Given the description of an element on the screen output the (x, y) to click on. 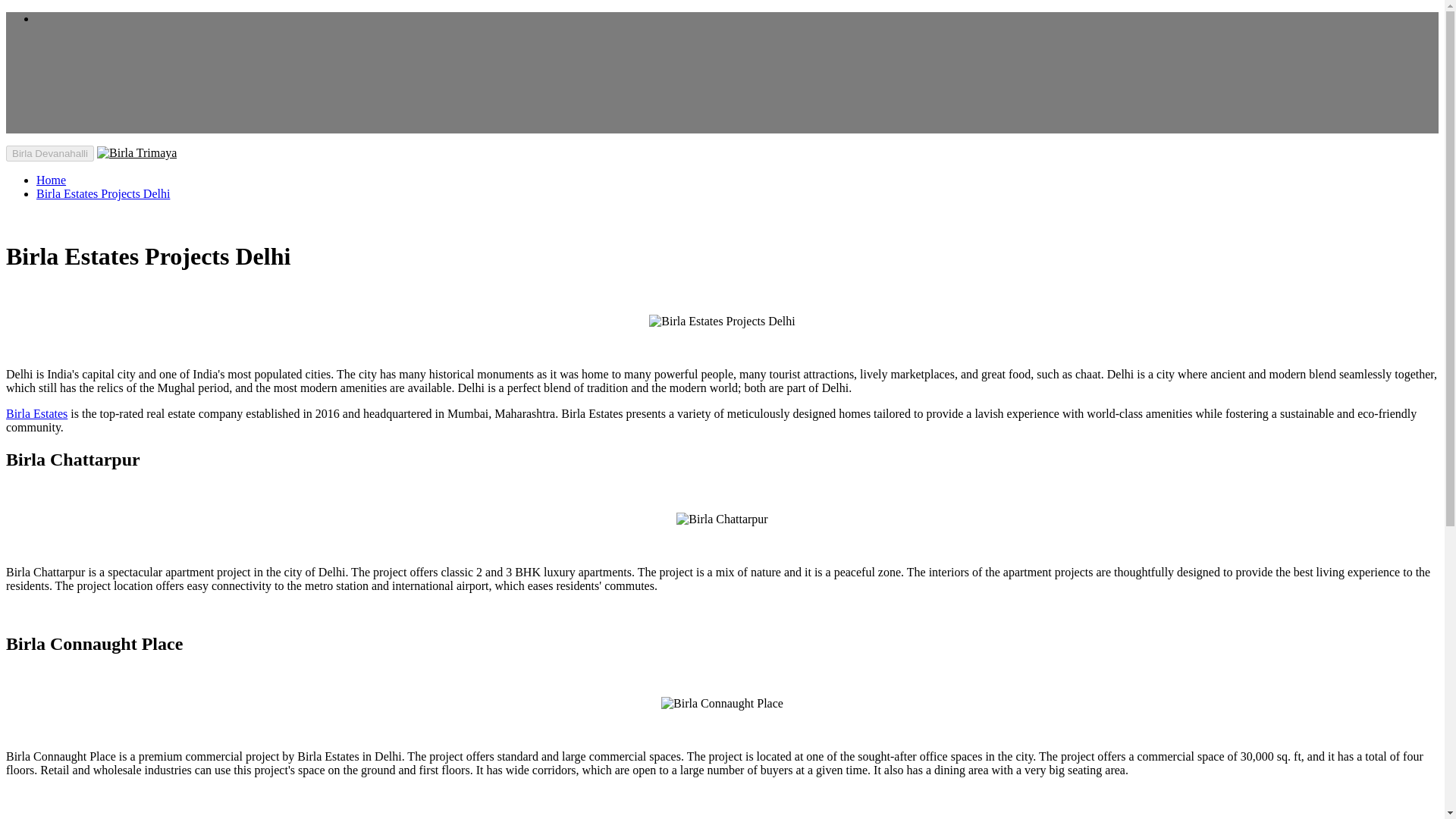
Home (50, 179)
Birla Connaught Place (722, 703)
Birla Estates Projects Delhi (103, 193)
Birla Trimaya (50, 179)
Birla Trimaya (136, 152)
Birla Devanahalli (49, 153)
Birla Estates Projects Delhi (721, 321)
Birla Chattarpur (722, 519)
Birla Estates (35, 413)
Birla Estates (35, 413)
Birla Estates Projects Delhi (103, 193)
